Given the description of an element on the screen output the (x, y) to click on. 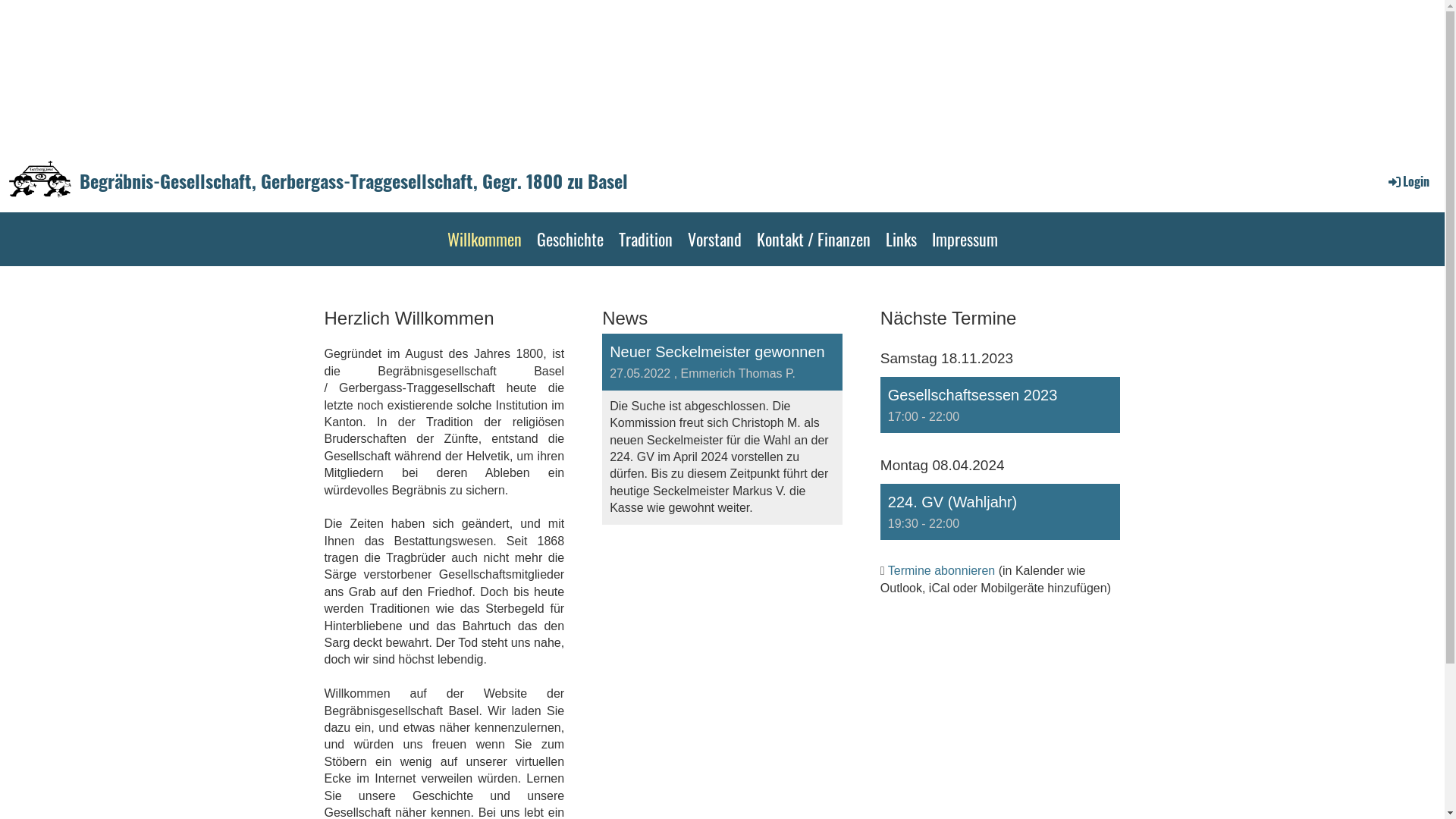
Login Element type: text (1407, 181)
Willkommen Element type: text (484, 239)
Vorstand Element type: text (713, 239)
Links Element type: text (901, 239)
Tradition Element type: text (645, 239)
Kontakt / Finanzen Element type: text (813, 239)
Impressum Element type: text (963, 239)
Geschichte Element type: text (570, 239)
224. GV (Wahljahr)
19:30 - 22:00 Element type: text (1000, 511)
Termine abonnieren Element type: text (941, 570)
Gesellschaftsessen 2023
17:00 - 22:00 Element type: text (1000, 404)
